Given the description of an element on the screen output the (x, y) to click on. 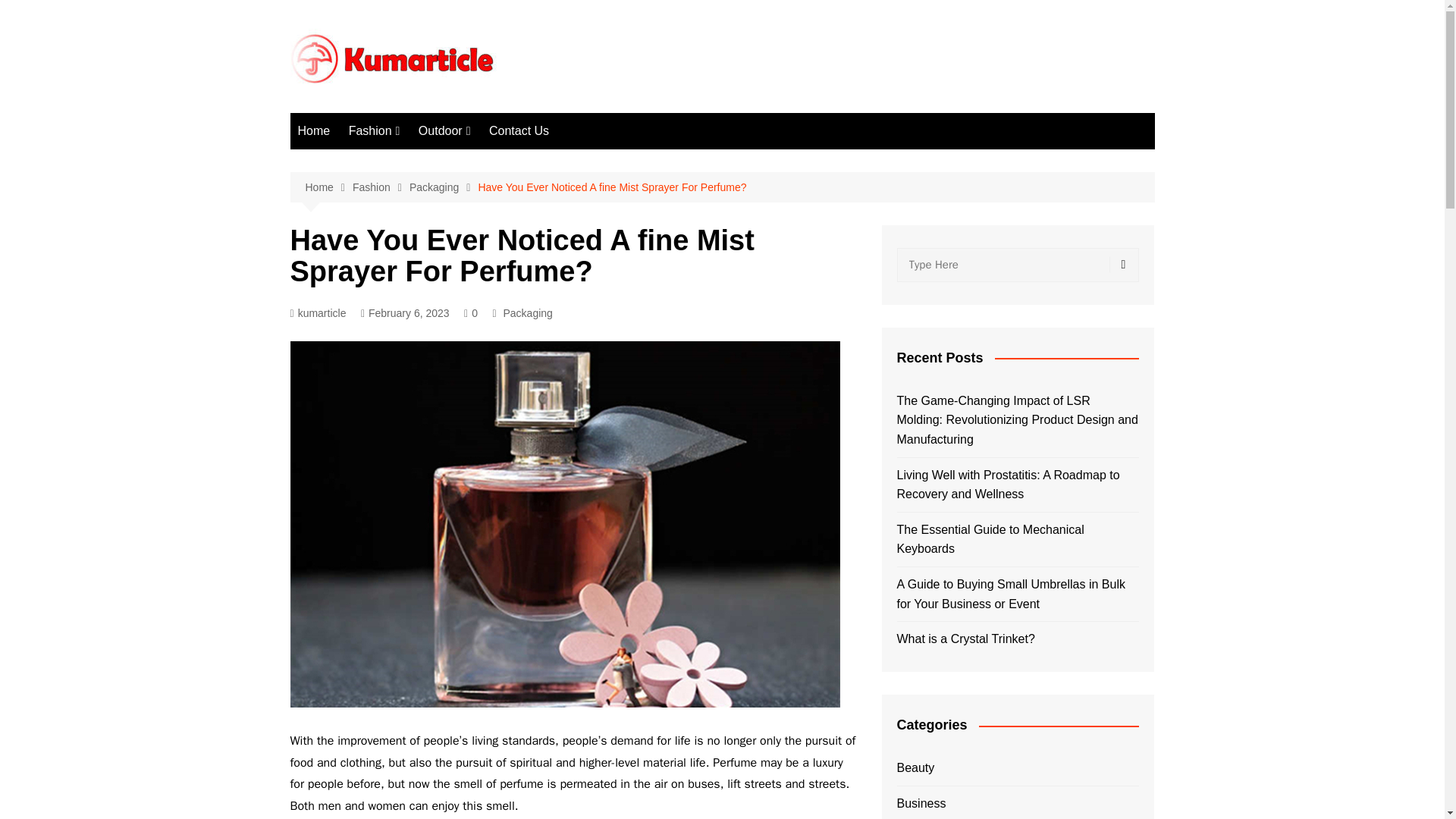
Home (328, 187)
Packaging (424, 186)
February 6, 2023 (405, 313)
Fashion (380, 187)
Fashion (373, 131)
Umbrella (494, 161)
Contact Us (518, 131)
Trinkets (424, 211)
Packaging (444, 187)
Beauty (424, 161)
Have You Ever Noticed A fine Mist Sprayer For Perfume? (611, 187)
Home (313, 131)
kumarticle (317, 313)
Packaging (526, 312)
Outdoor (444, 131)
